Given the description of an element on the screen output the (x, y) to click on. 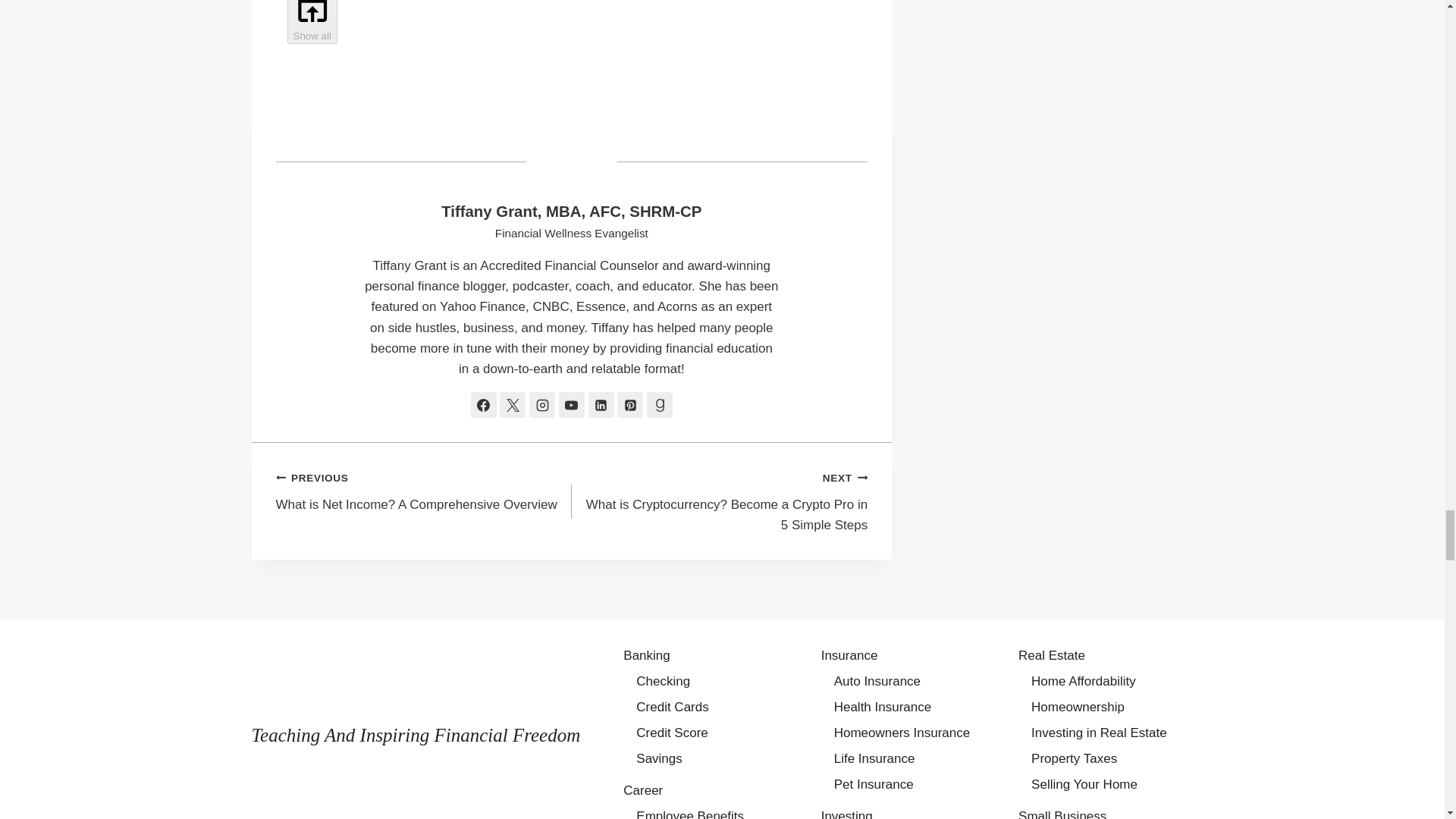
Posts by Tiffany Grant, MBA, AFC, SHRM-CP (571, 211)
Follow Tiffany Grant, MBA, AFC, SHRM-CP on Facebook (483, 404)
